Given the description of an element on the screen output the (x, y) to click on. 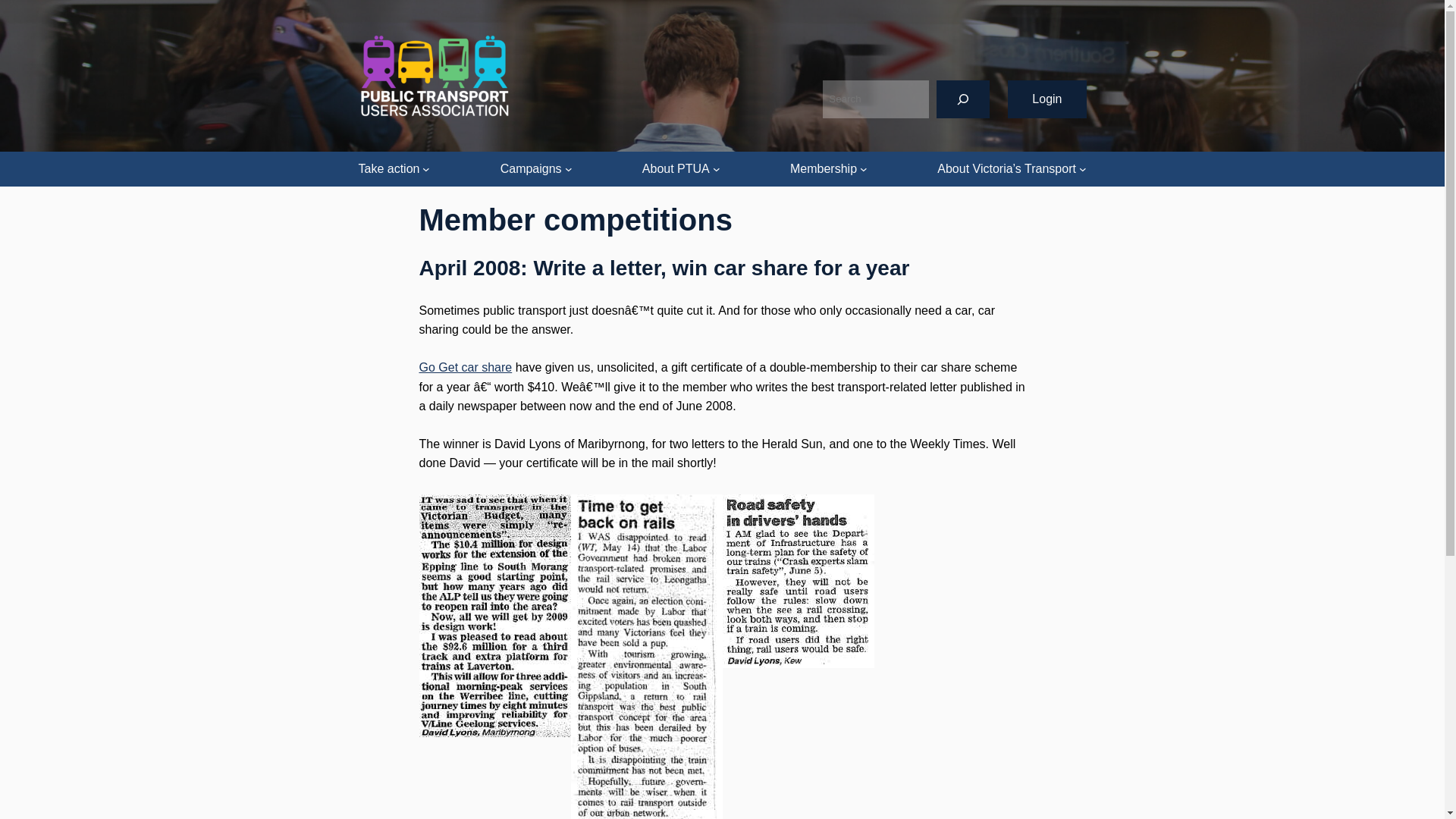
Login (1046, 98)
Membership (823, 168)
Take action (388, 168)
About PTUA (676, 168)
Campaigns (531, 168)
